Given the description of an element on the screen output the (x, y) to click on. 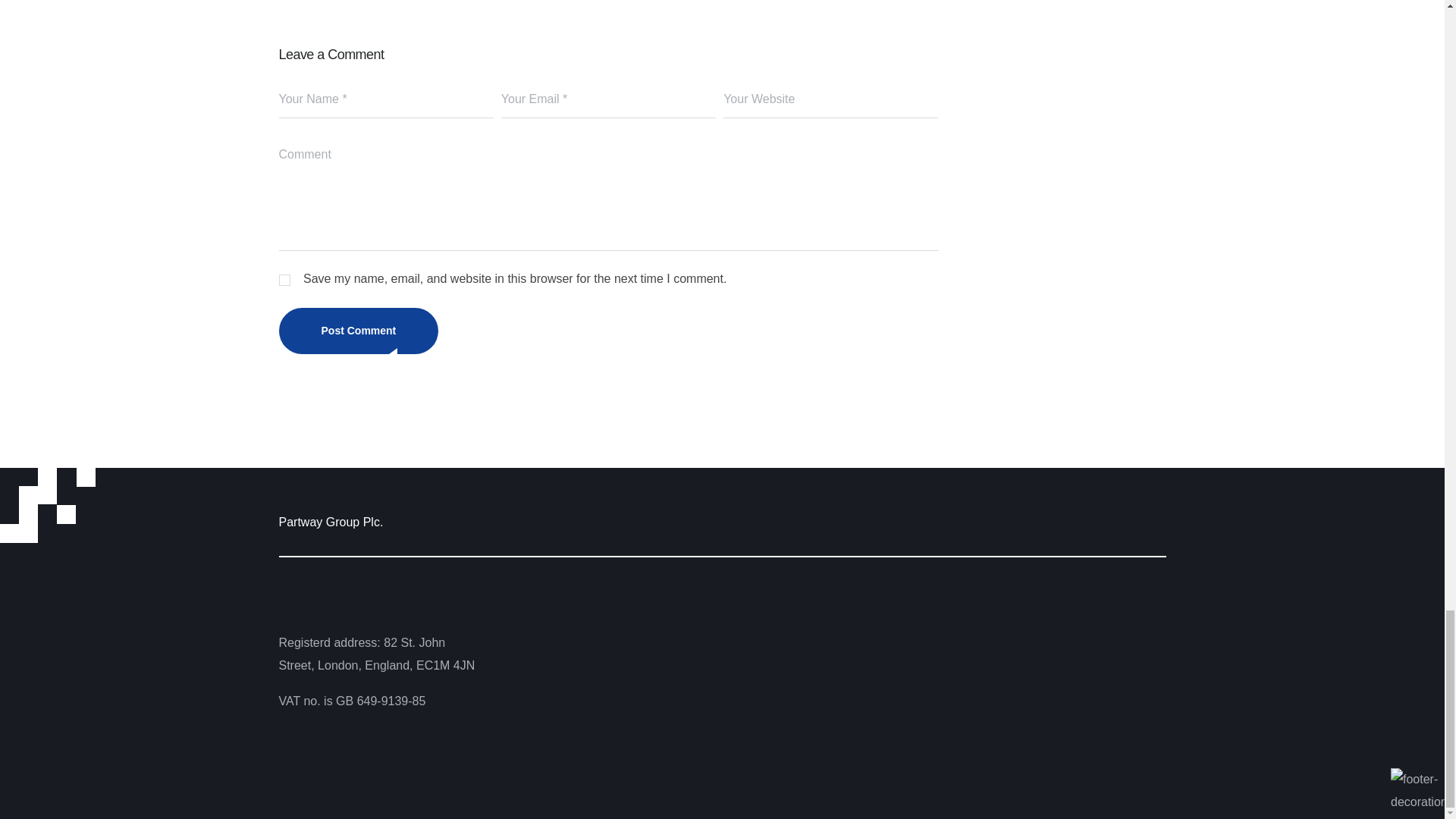
yes (284, 279)
Post Comment (359, 330)
